Given the description of an element on the screen output the (x, y) to click on. 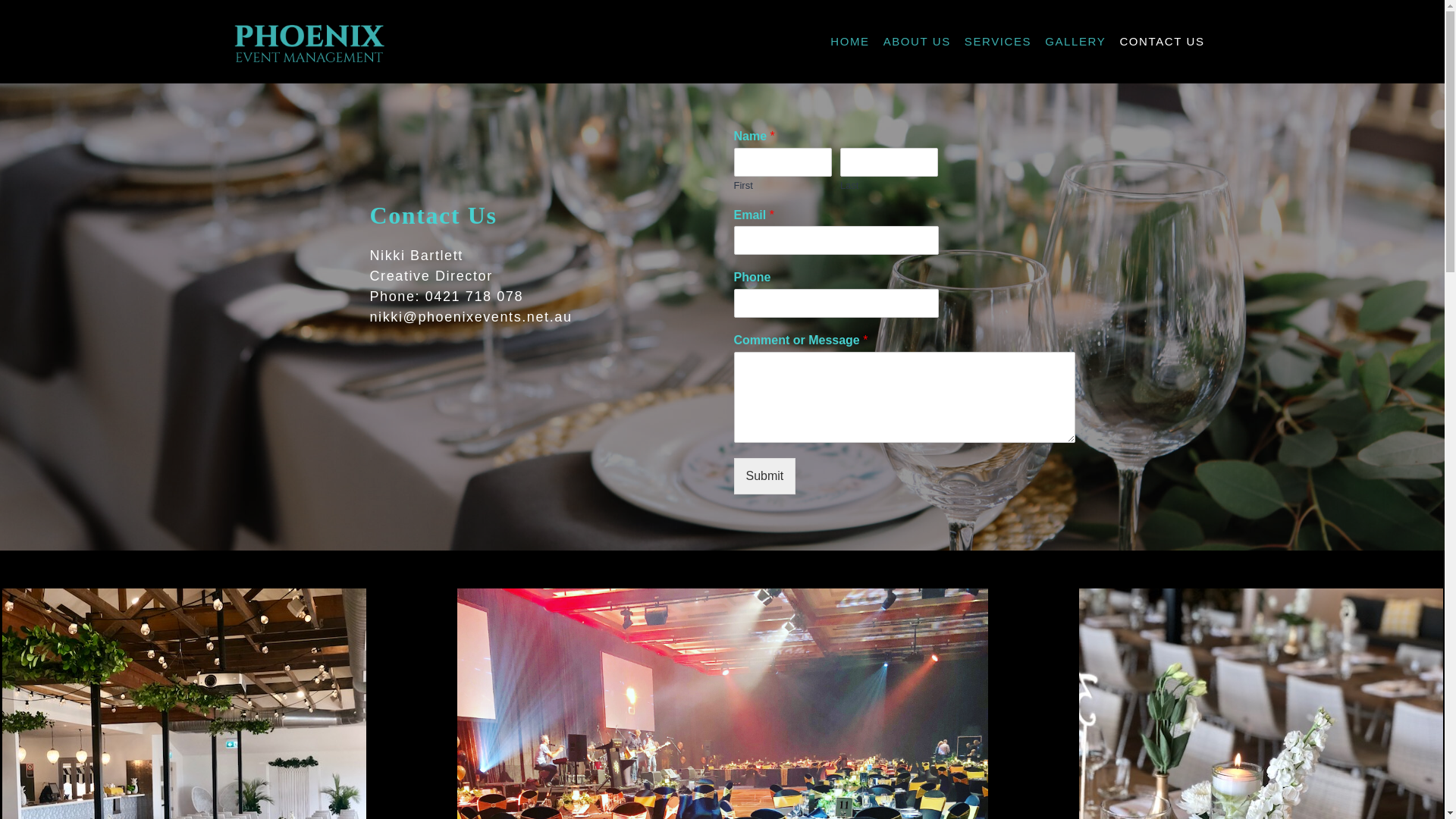
ABOUT US Element type: text (916, 41)
CONTACT US Element type: text (1161, 41)
SERVICES Element type: text (997, 41)
HOME Element type: text (849, 41)
GALLERY Element type: text (1075, 41)
Submit Element type: text (765, 476)
